Given the description of an element on the screen output the (x, y) to click on. 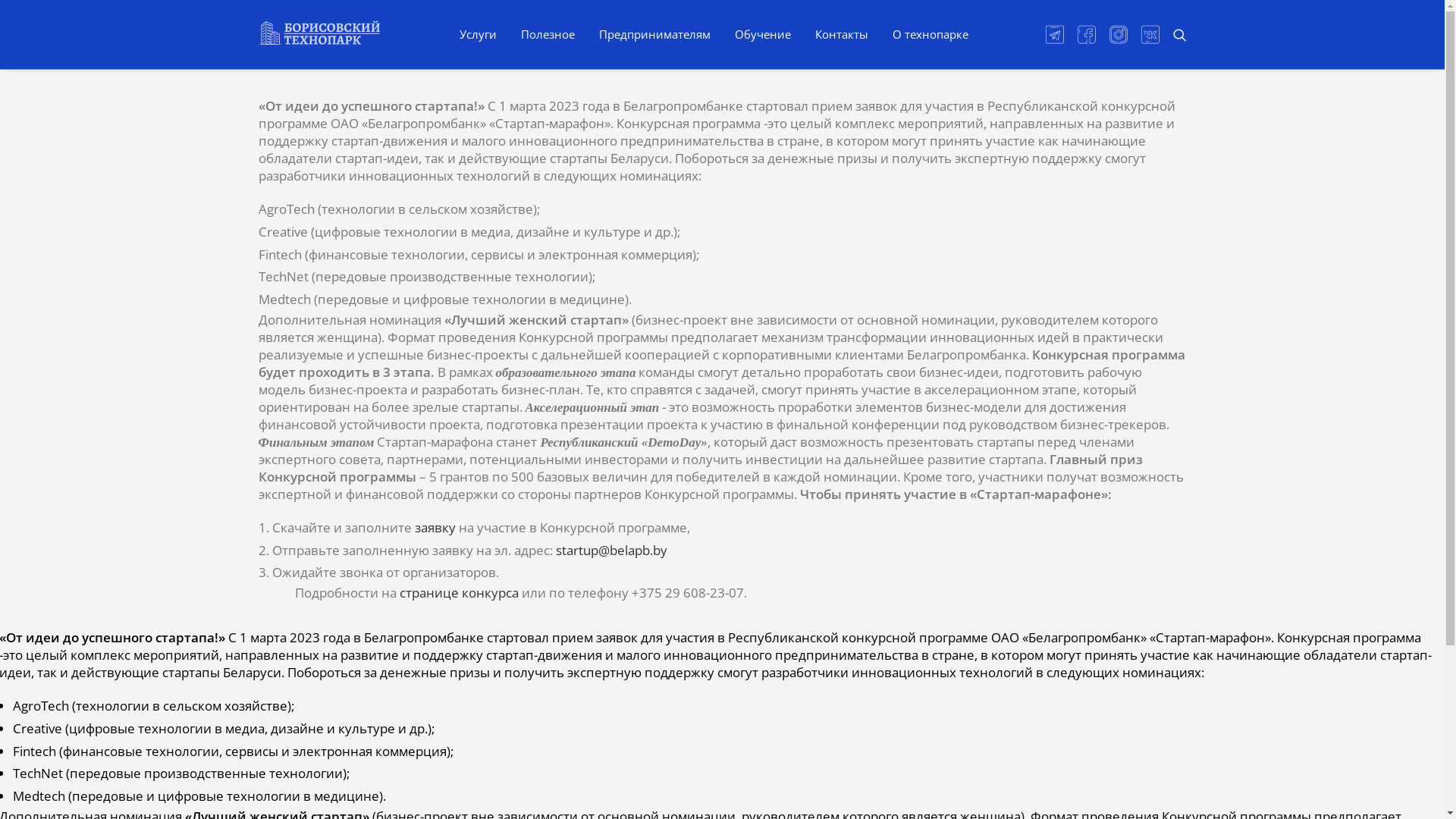
startup@belapb.by Element type: text (610, 549)
